Given the description of an element on the screen output the (x, y) to click on. 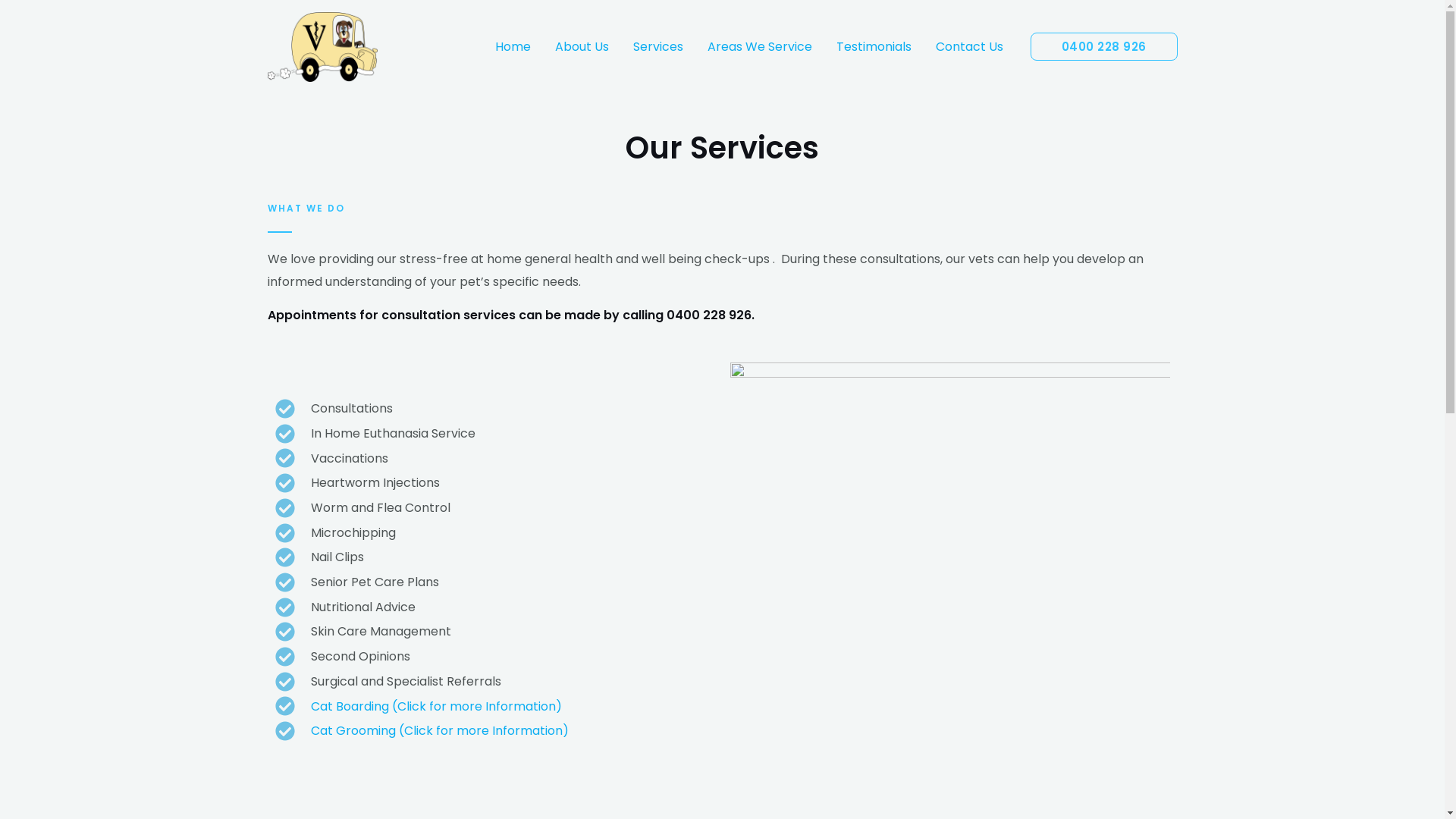
Areas We Service Element type: text (758, 46)
Services Element type: text (657, 46)
About Us Element type: text (581, 46)
Home Element type: text (512, 46)
Cat Boarding (Click for more Information) Element type: text (494, 706)
Cat Grooming (Click for more Information) Element type: text (494, 730)
Contact Us Element type: text (969, 46)
0400 228 926 Element type: text (1102, 46)
Testimonials Element type: text (872, 46)
